Given the description of an element on the screen output the (x, y) to click on. 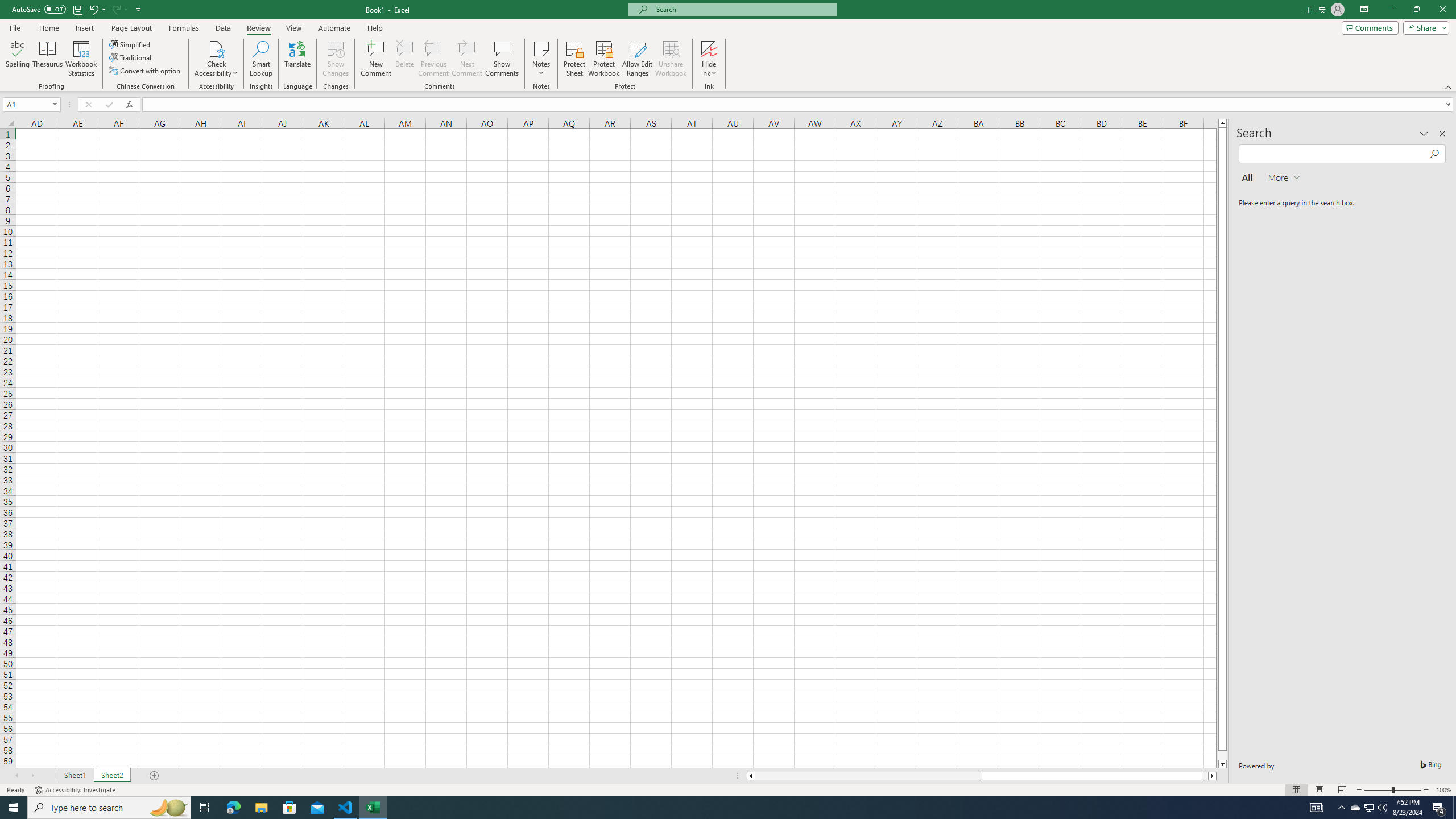
Spelling... (17, 58)
Workbook Statistics (81, 58)
Delete (404, 58)
